Given the description of an element on the screen output the (x, y) to click on. 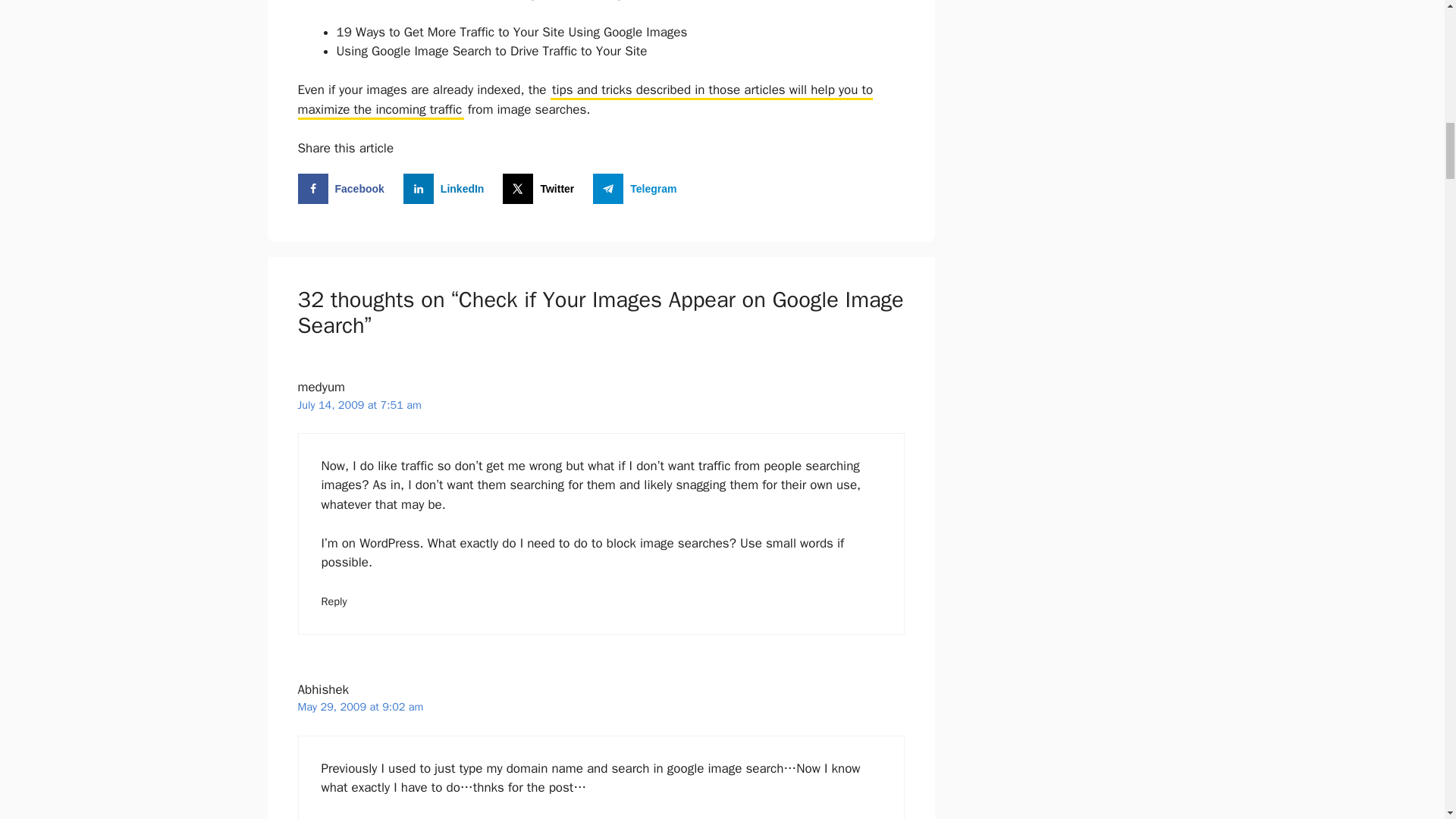
Reply (334, 601)
Share on Telegram (637, 188)
Share on LinkedIn (447, 188)
Facebook (343, 188)
LinkedIn (447, 188)
Share on Facebook (343, 188)
Twitter (541, 188)
July 14, 2009 at 7:51 am (358, 404)
Telegram (637, 188)
Ways to Get More Traffic (425, 32)
May 29, 2009 at 9:02 am (360, 706)
Share on X (541, 188)
